Given the description of an element on the screen output the (x, y) to click on. 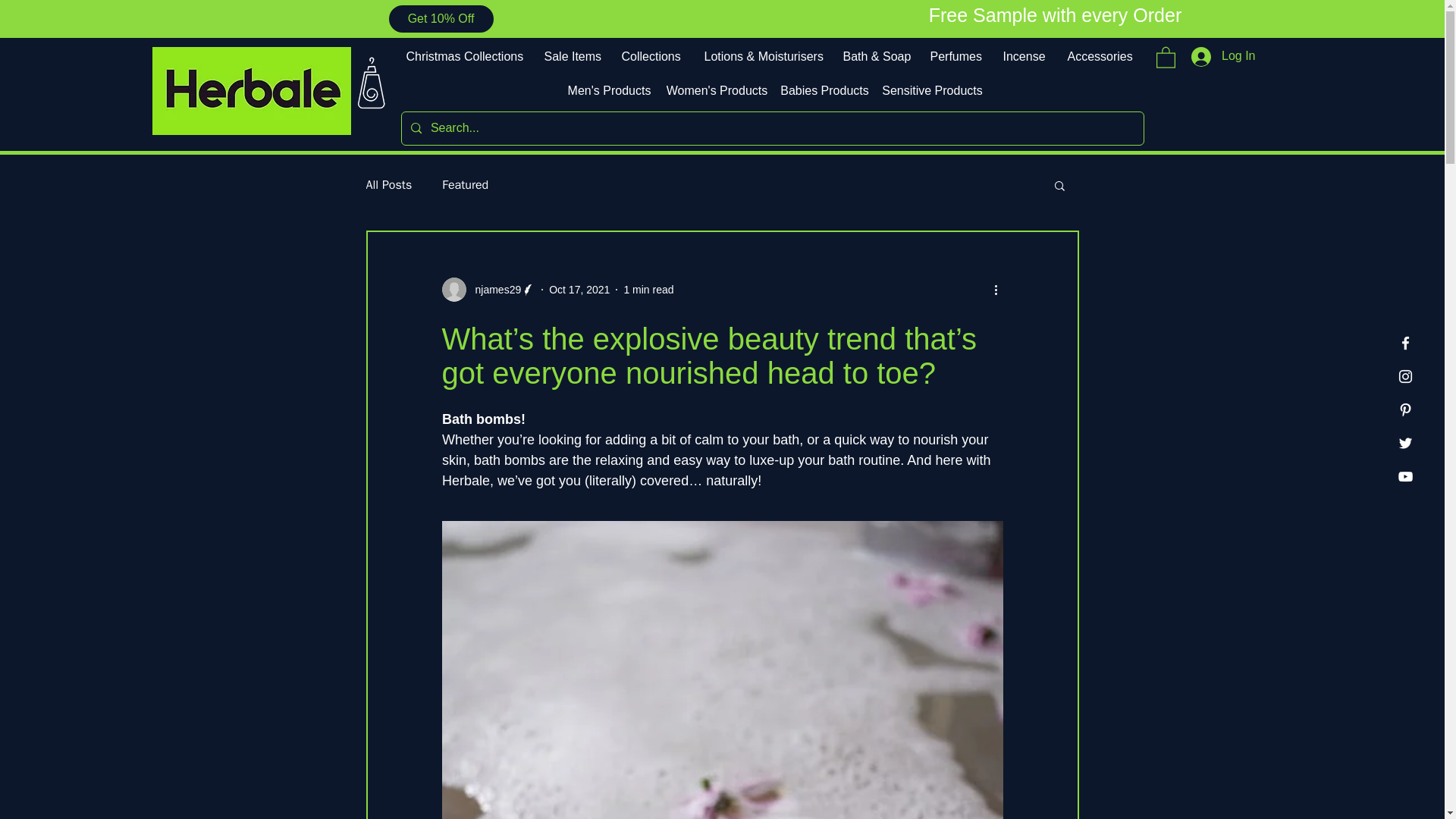
Perfumes (954, 56)
Accessories (1098, 56)
Log In (1222, 56)
Incense (1024, 56)
All Posts (388, 185)
Christmas Collections (463, 56)
Oct 17, 2021 (579, 289)
Men's Products (609, 91)
Women's Products (717, 91)
njames29 (488, 289)
1 min read (647, 289)
Sale Items (571, 56)
Featured (464, 185)
Babies Products (825, 91)
Collections (651, 56)
